Given the description of an element on the screen output the (x, y) to click on. 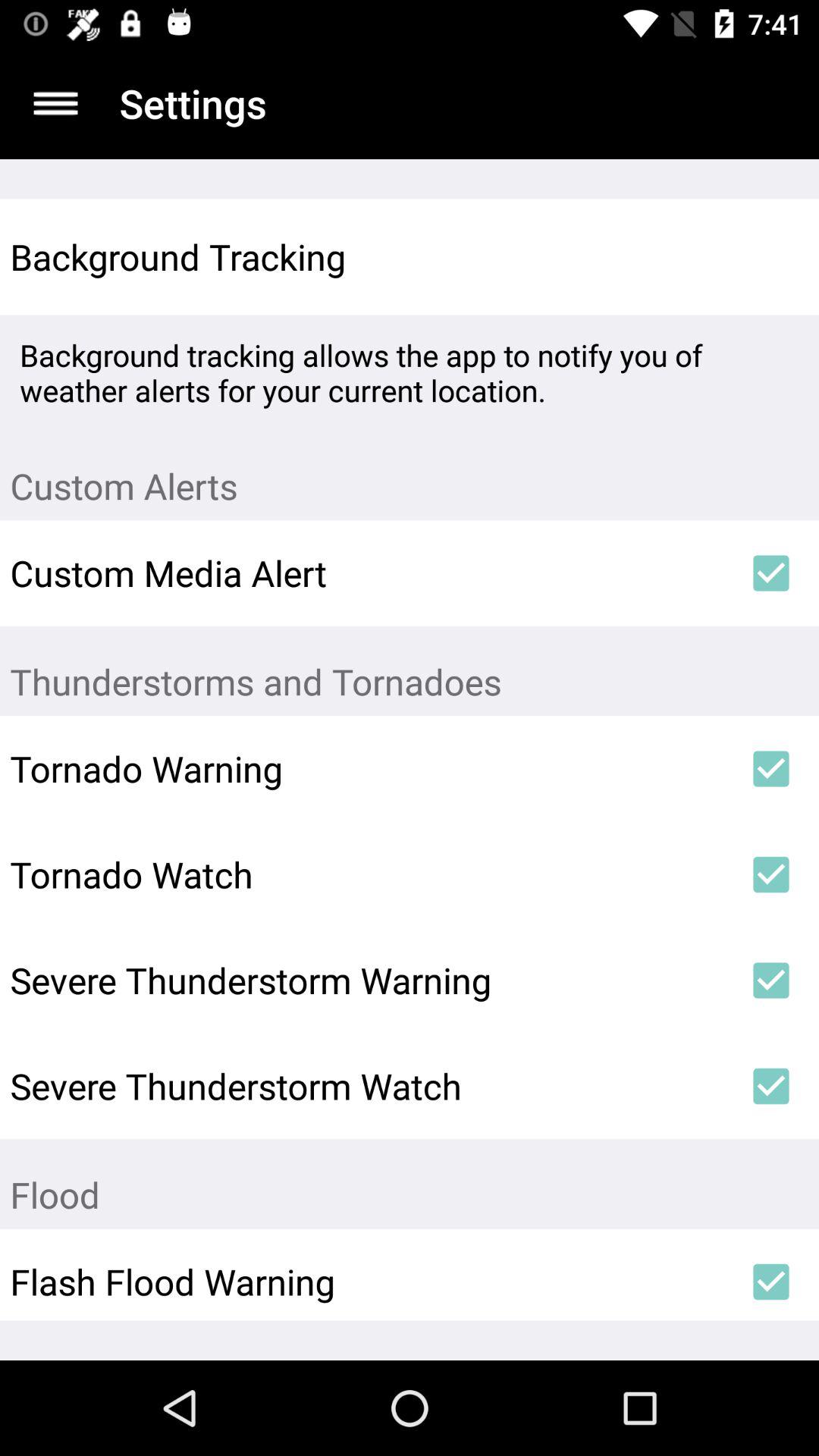
tap icon next to background tracking item (771, 256)
